Given the description of an element on the screen output the (x, y) to click on. 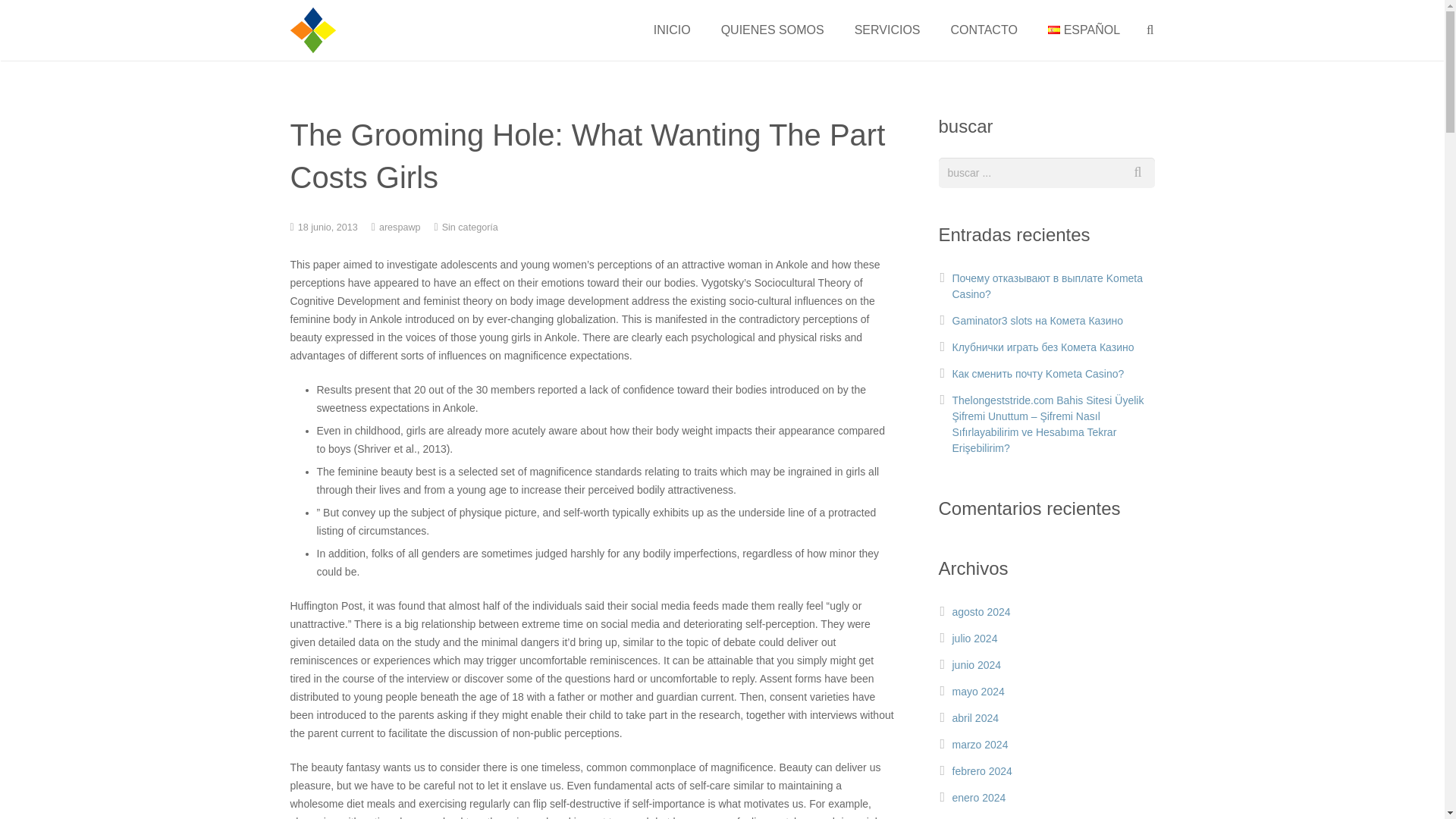
marzo 2024 (980, 744)
junio 2024 (976, 664)
febrero 2024 (981, 770)
julio 2024 (974, 638)
diciembre 2023 (988, 818)
INICIO (672, 30)
abril 2024 (975, 717)
QUIENES SOMOS (773, 30)
enero 2024 (979, 797)
agosto 2024 (981, 612)
